Given the description of an element on the screen output the (x, y) to click on. 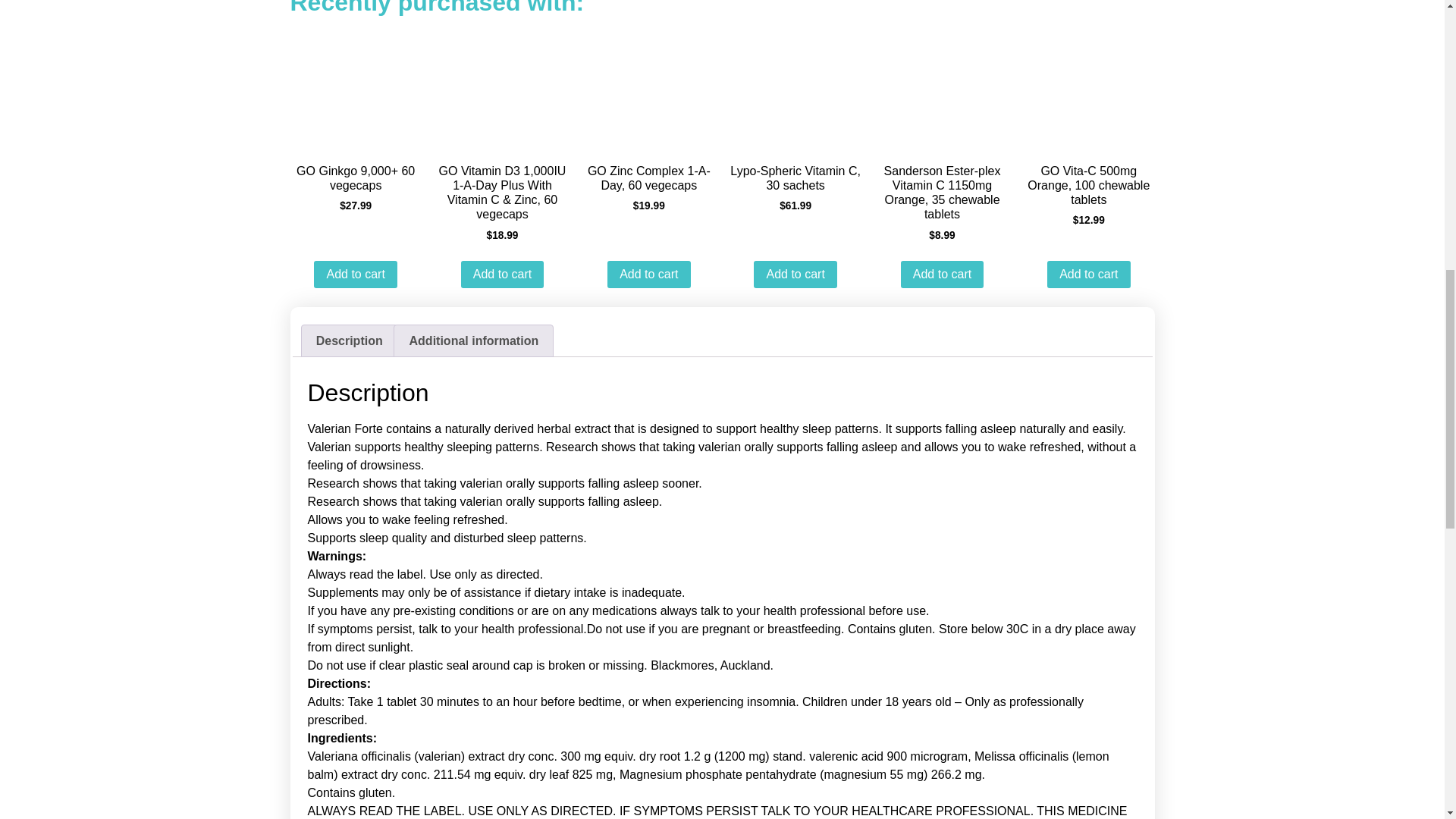
Minimum qty is 1 (355, 274)
Minimum qty is 1 (502, 274)
Minimum qty is 1 (1087, 274)
Minimum qty is 1 (942, 274)
Minimum qty is 1 (648, 274)
Minimum qty is 1 (794, 274)
